Given the description of an element on the screen output the (x, y) to click on. 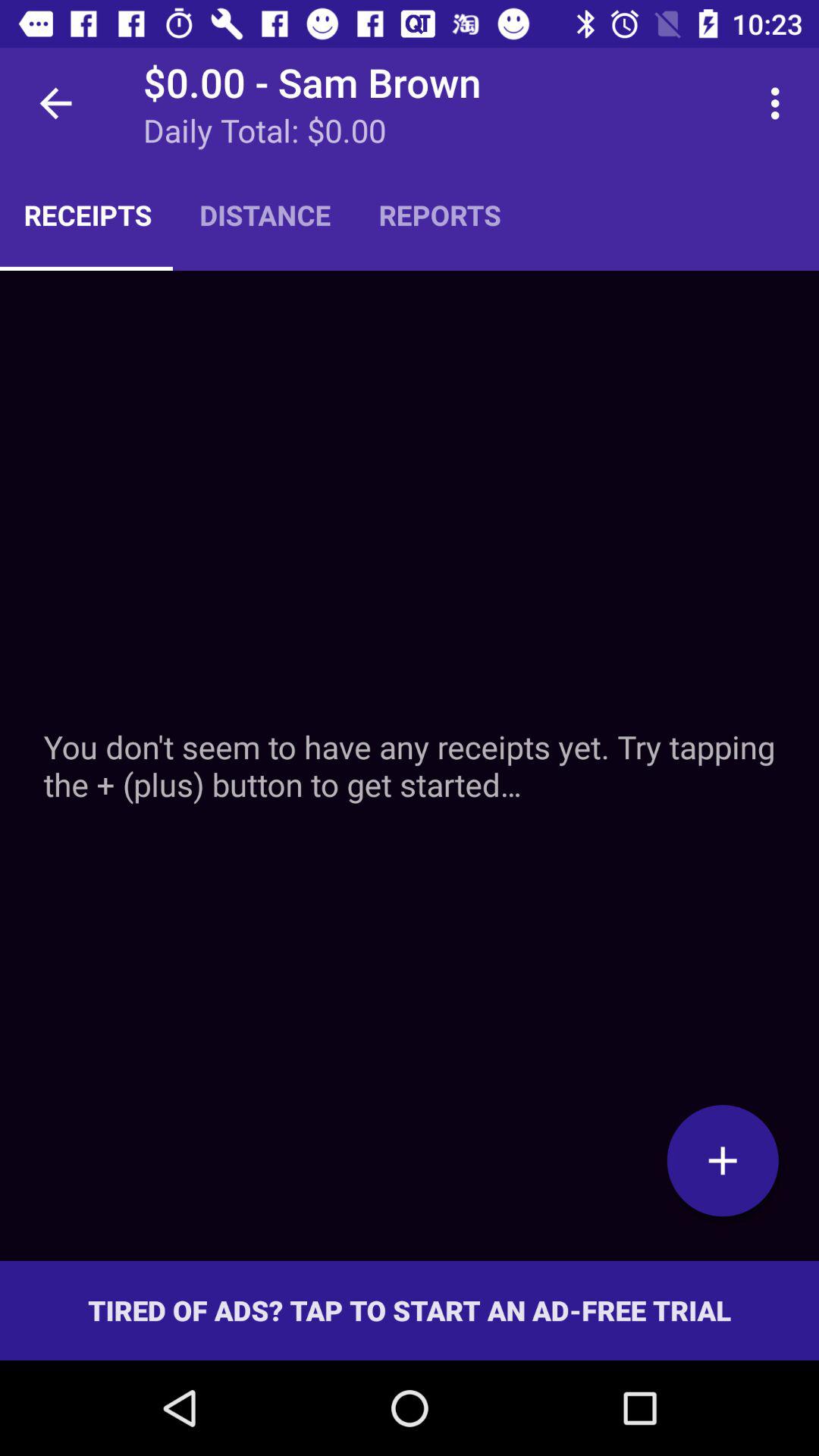
tap to get started (722, 1160)
